Given the description of an element on the screen output the (x, y) to click on. 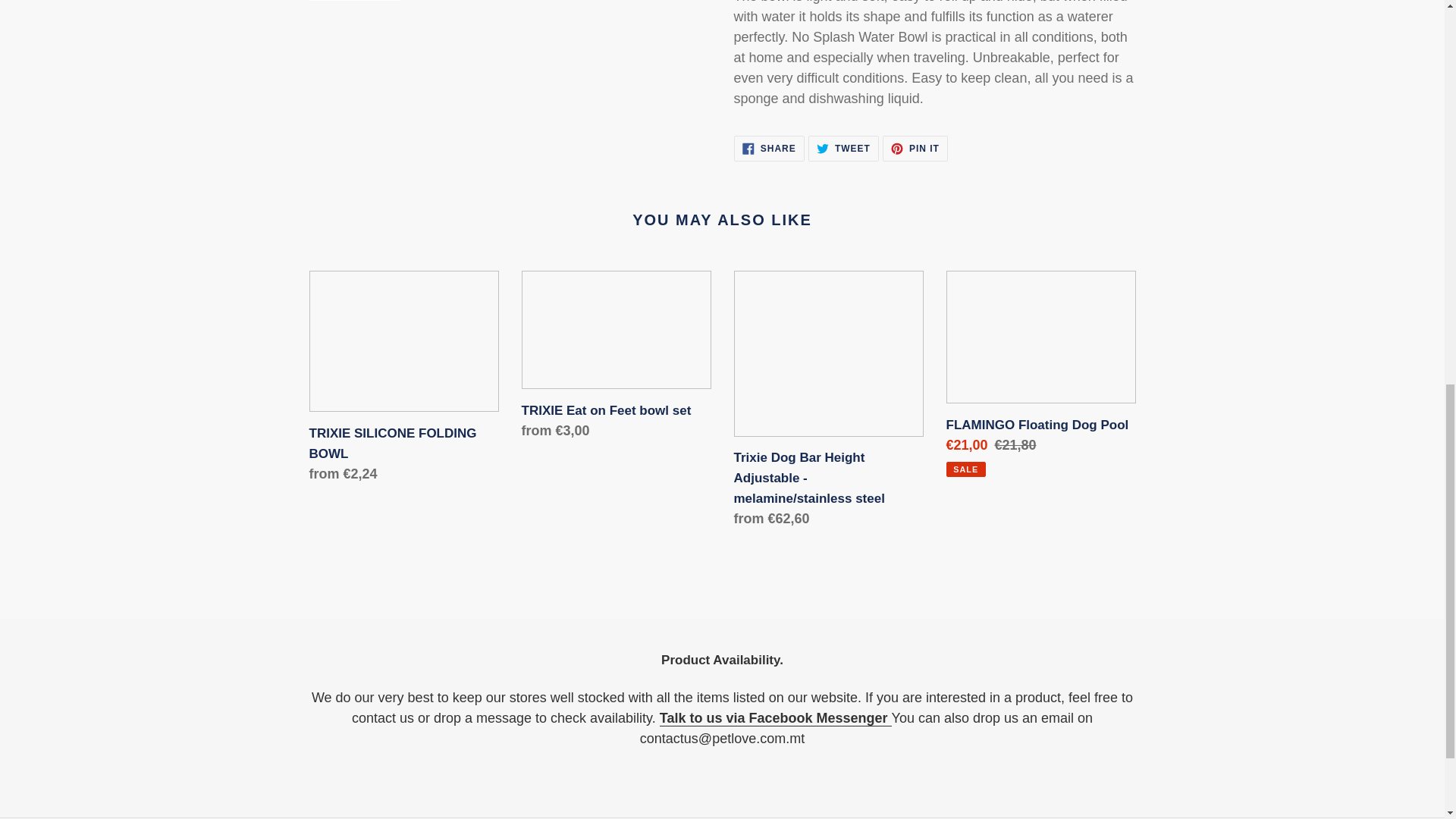
Talk to us via Facebook Messenger (769, 148)
Go to our Facebook Page (914, 148)
TRIXIE Eat on Feet bowl set (775, 718)
FLAMINGO Floating Dog Pool (843, 148)
